Given the description of an element on the screen output the (x, y) to click on. 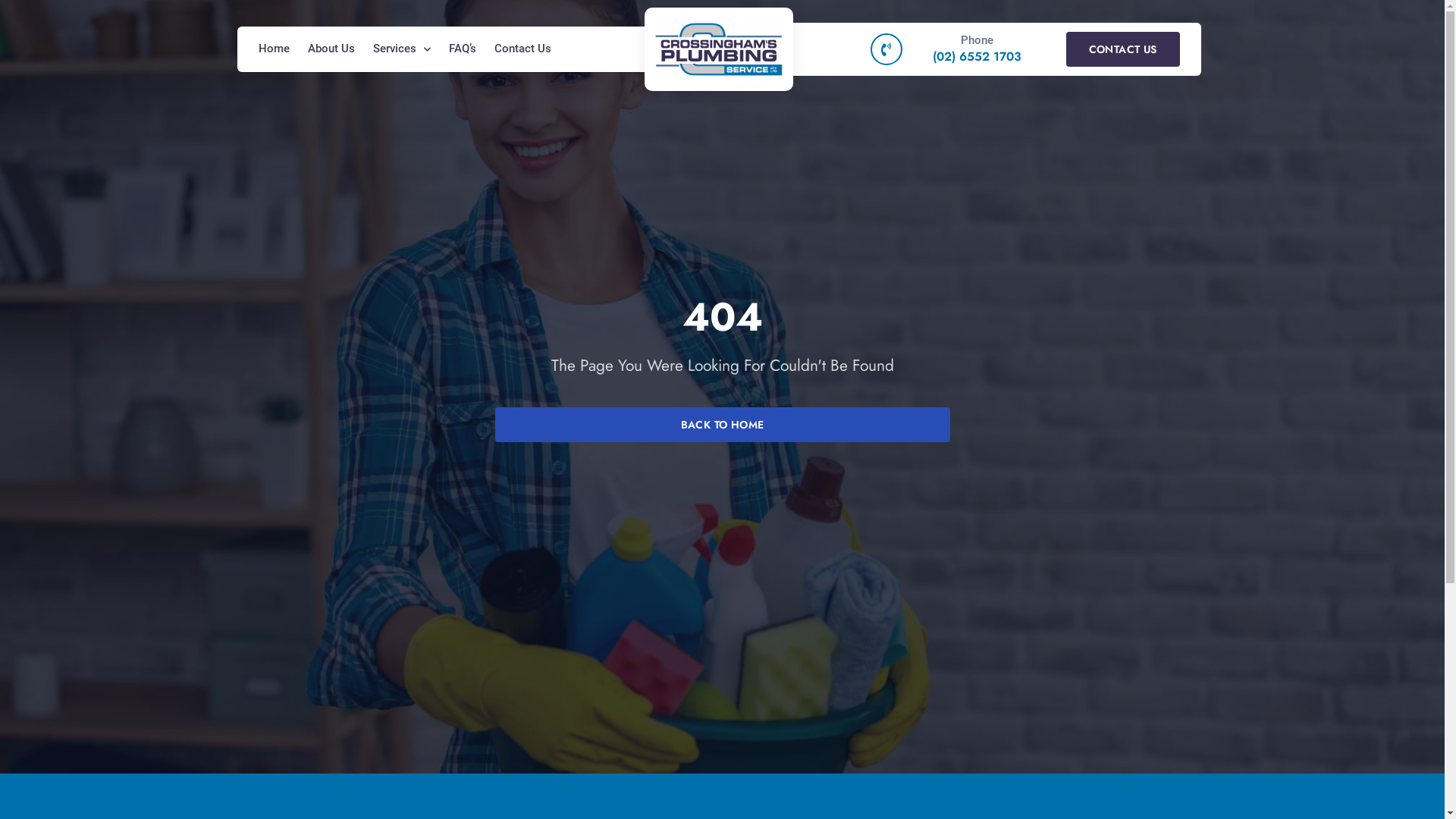
Phone Element type: text (976, 40)
Contact Us Element type: text (522, 48)
BACK TO HOME Element type: text (721, 424)
Services Element type: text (401, 48)
About Us Element type: text (330, 48)
Home Element type: text (272, 48)
CONTACT US Element type: text (1122, 48)
